Given the description of an element on the screen output the (x, y) to click on. 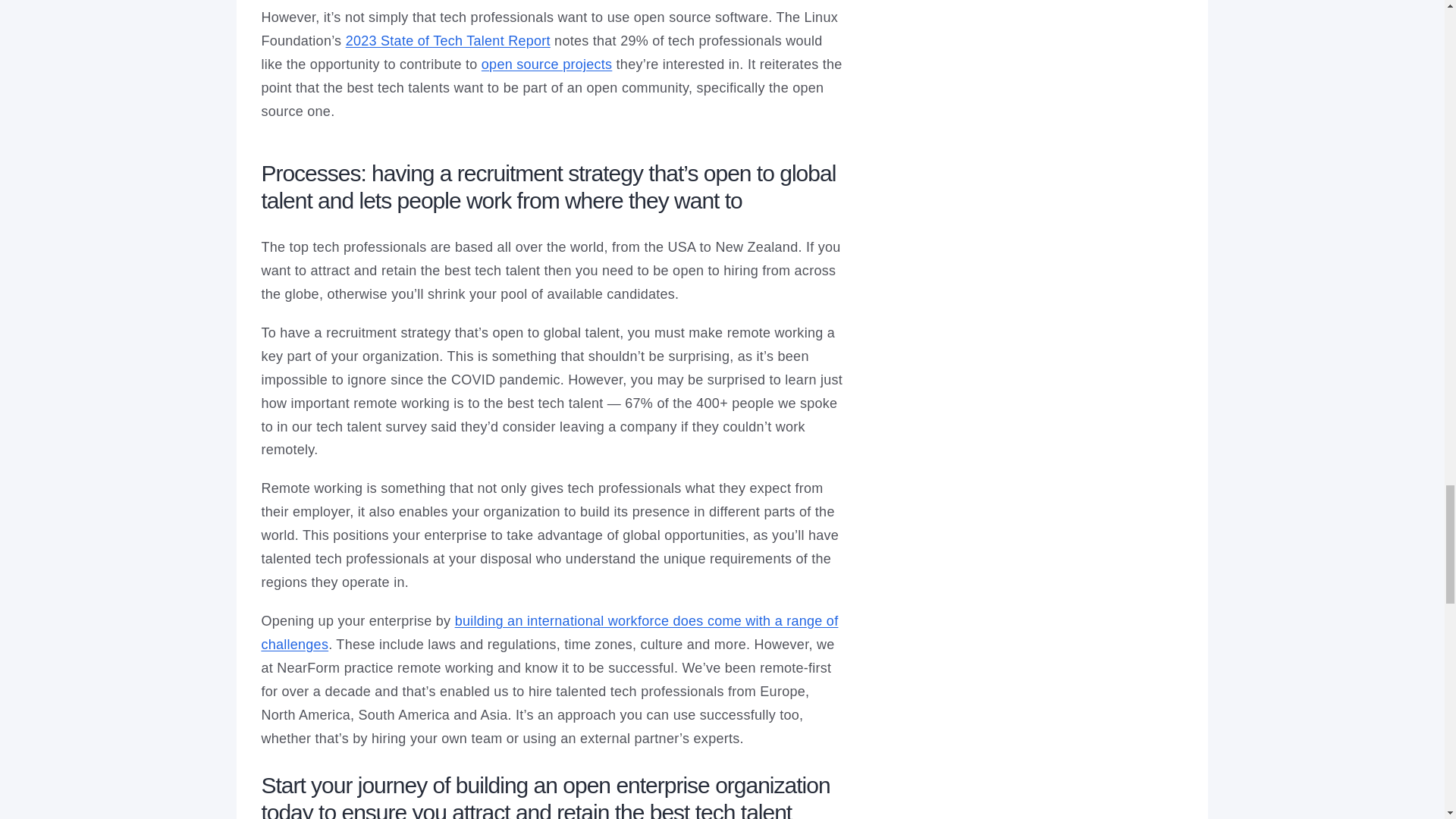
2023 State of Tech Talent Report (448, 40)
open source projects (546, 64)
